Given the description of an element on the screen output the (x, y) to click on. 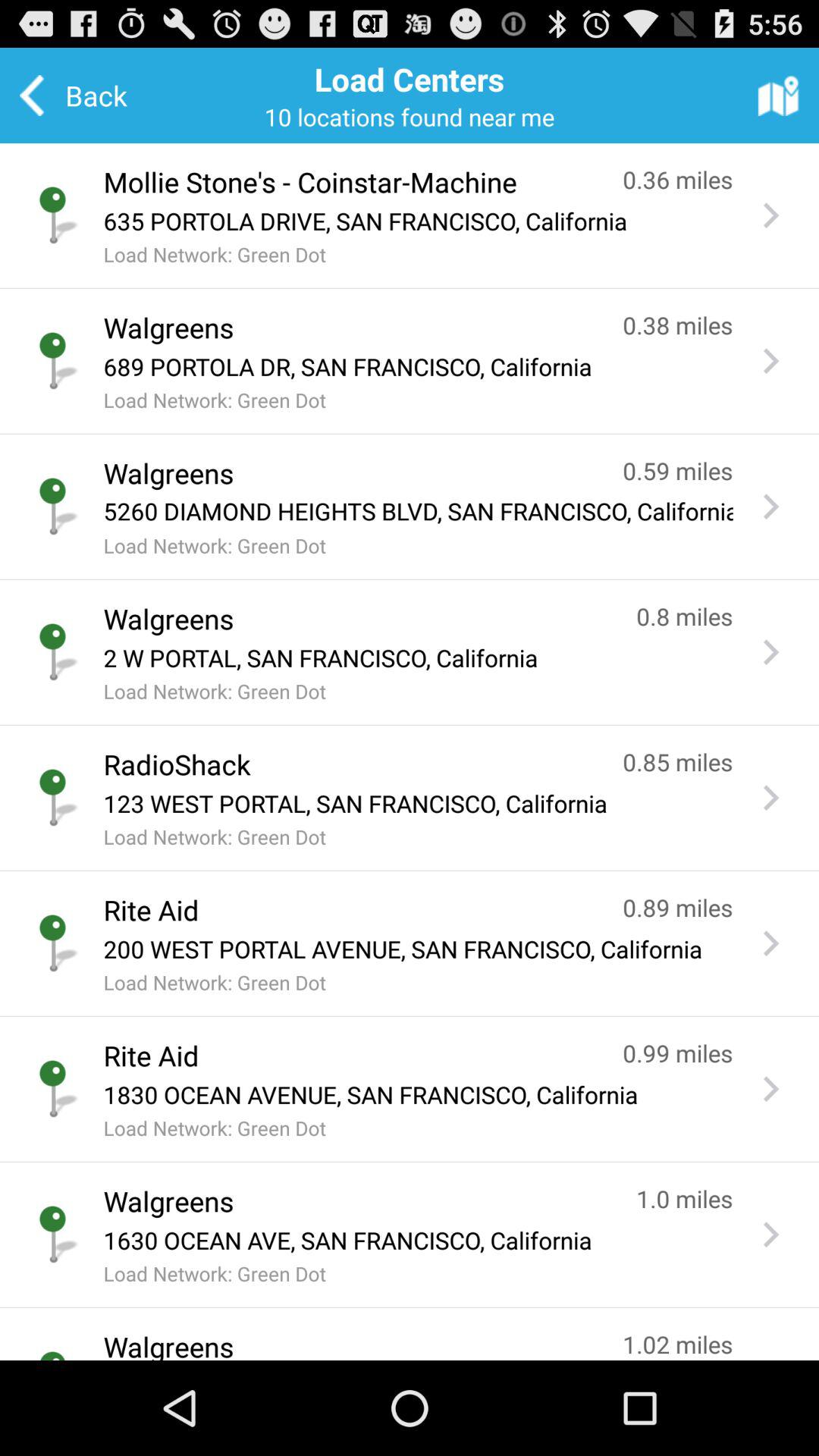
select 635 portola drive icon (418, 220)
